Given the description of an element on the screen output the (x, y) to click on. 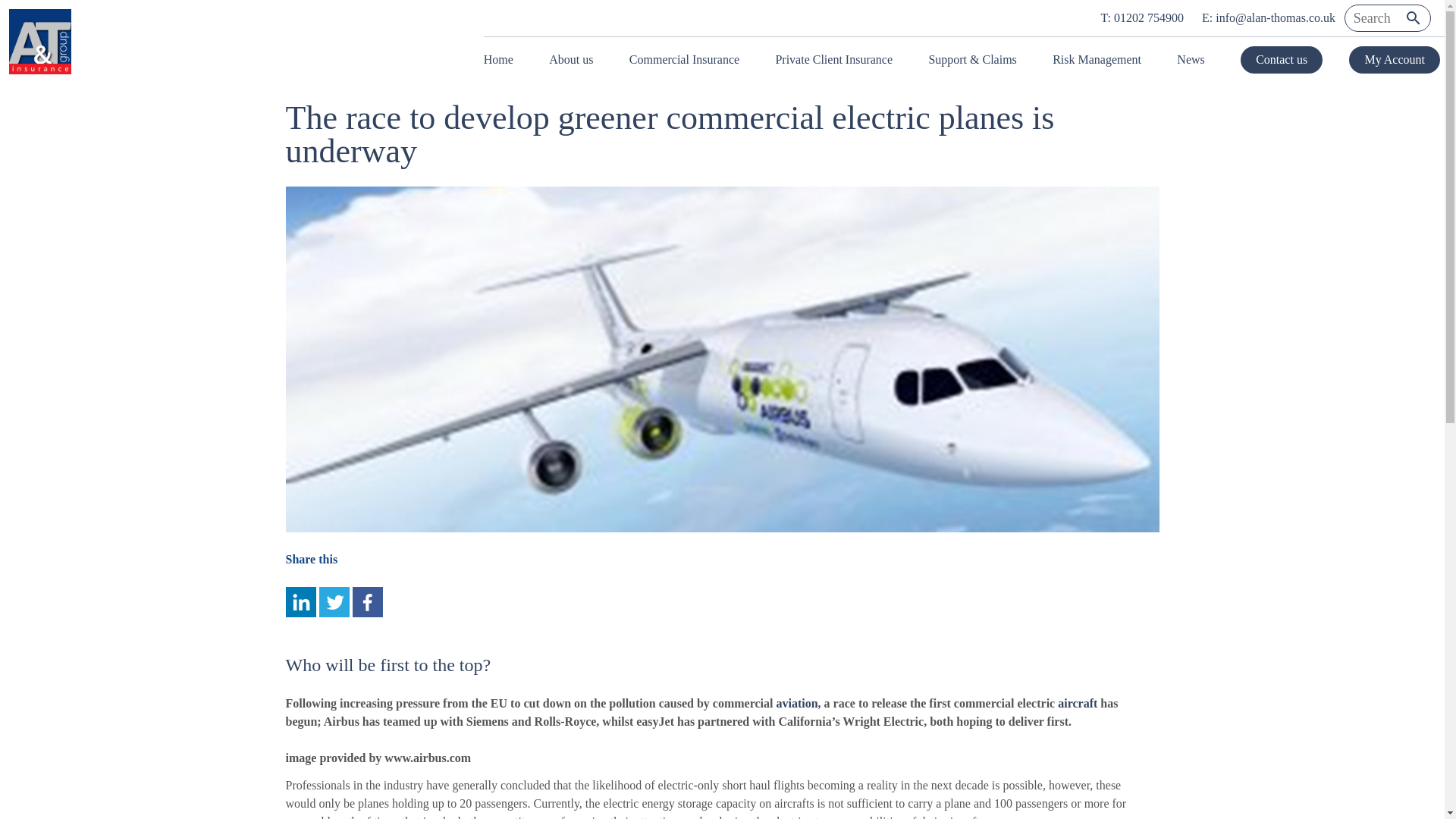
Private Client Insurance (833, 59)
About us (571, 59)
Commercial Insurance (684, 59)
T: 01202 754900 (1142, 17)
Home (502, 59)
